Given the description of an element on the screen output the (x, y) to click on. 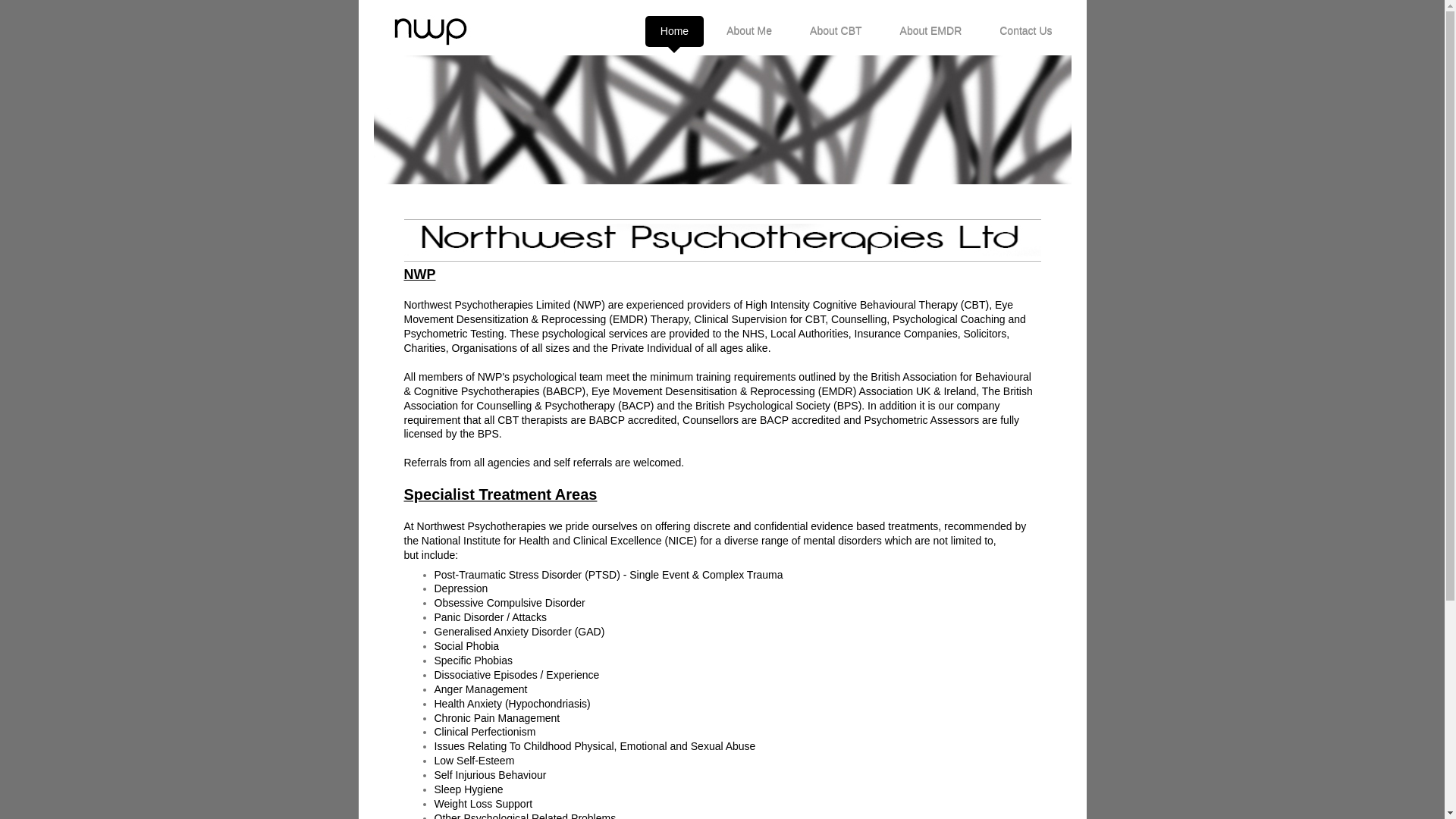
About Me (749, 30)
Contact Us (1025, 30)
About EMDR (930, 30)
About CBT (835, 30)
Home (674, 30)
